Given the description of an element on the screen output the (x, y) to click on. 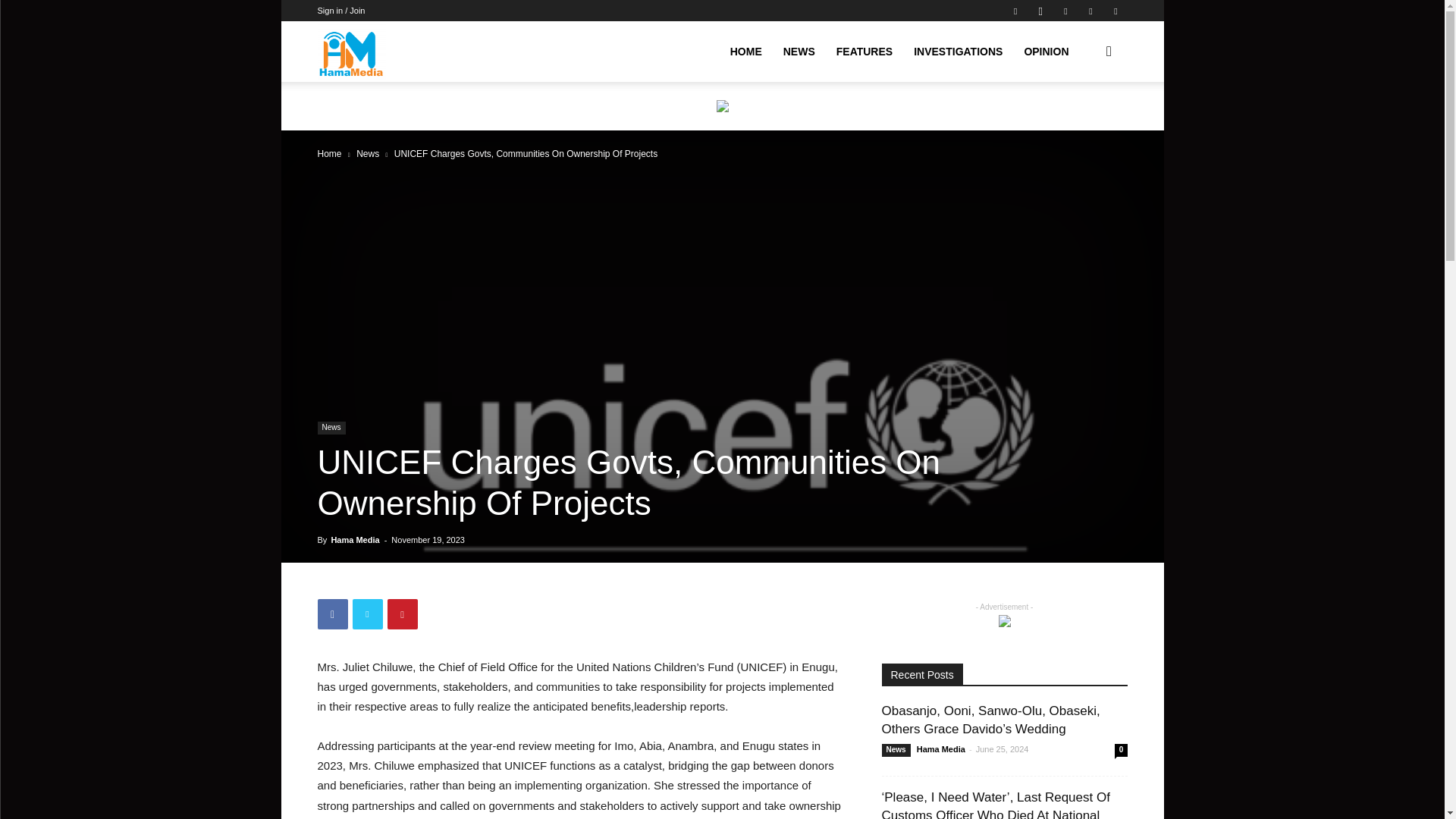
Instagram (1040, 10)
INVESTIGATIONS (957, 51)
Home (328, 153)
Vimeo (1090, 10)
Youtube (1114, 10)
News (367, 153)
Facebook (1015, 10)
FEATURES (863, 51)
Search (1085, 124)
Twitter (1065, 10)
OPINION (1045, 51)
View all posts in News (367, 153)
Hama Media (351, 51)
